Given the description of an element on the screen output the (x, y) to click on. 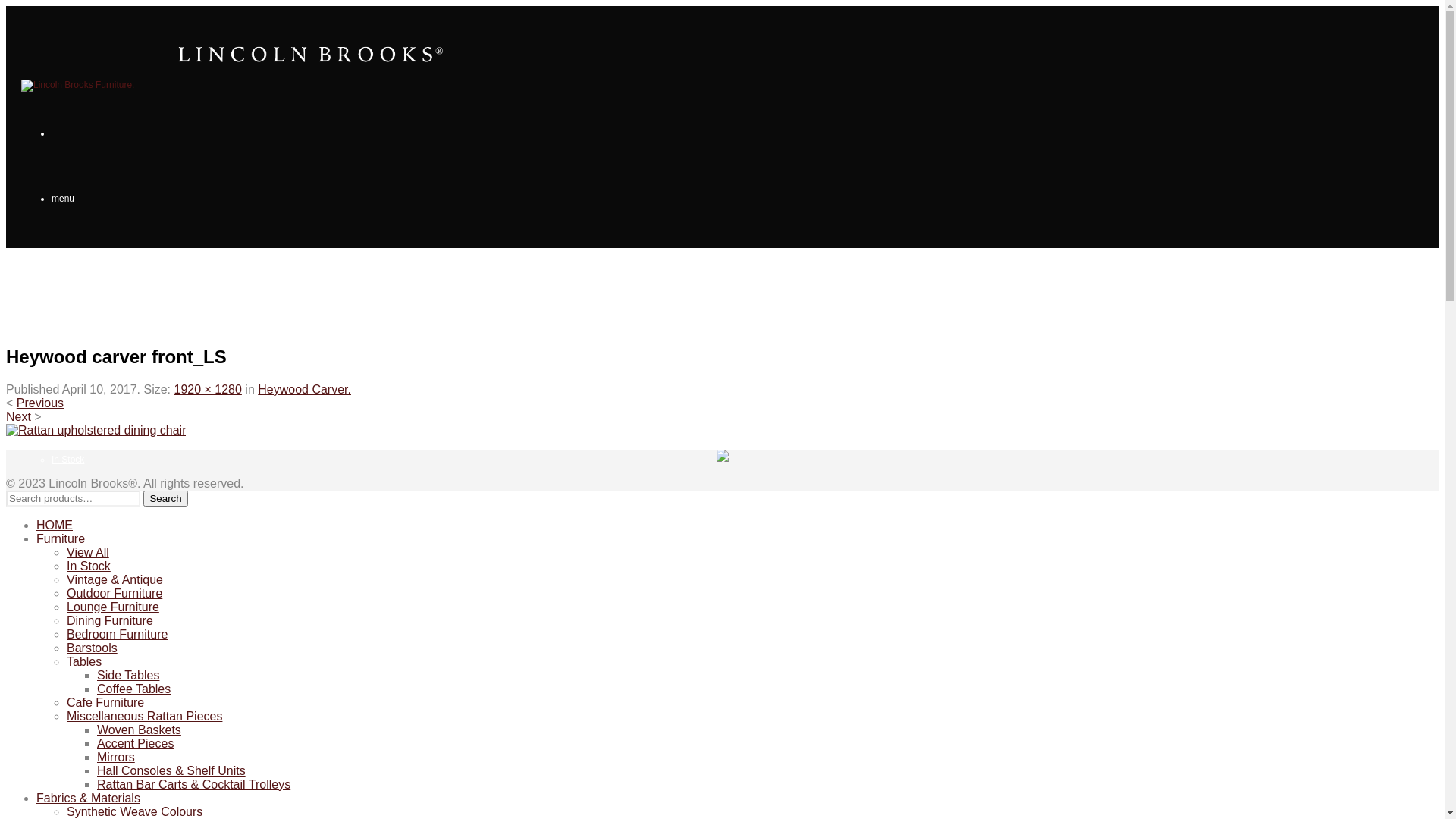
Bedroom Furniture Element type: text (116, 633)
menu Element type: text (62, 198)
Rattan Bar Carts & Cocktail Trolleys Element type: text (193, 784)
Barstools Element type: text (91, 647)
View All Element type: text (67, 394)
Bedroom Furniture Element type: text (89, 785)
Furniture Element type: text (39, 328)
Outdoor Furniture Element type: text (114, 592)
Previous Element type: text (39, 402)
Miscellaneous Rattan Pieces Element type: text (144, 715)
Hall Consoles & Shelf Units Element type: text (171, 770)
Mirrors Element type: text (115, 756)
Synthetic Weave Colours Element type: text (134, 811)
Lounge Furniture Element type: text (112, 606)
Furniture Element type: text (60, 538)
Search Element type: text (165, 498)
Woven Baskets Element type: text (139, 729)
Vintage & Antique Element type: text (87, 524)
Coffee Tables Element type: text (133, 688)
Fabrics & Materials Element type: text (88, 797)
HOME Element type: text (34, 263)
Side Tables Element type: text (128, 674)
Cafe Furniture Element type: text (105, 702)
Heywood carver front_LS Element type: hover (95, 429)
In Stock Element type: text (67, 459)
Next Element type: text (18, 416)
Accent Pieces Element type: text (135, 743)
View All Element type: text (87, 552)
Outdoor Furniture Element type: text (87, 589)
Lounge Furniture Element type: text (85, 654)
HOME Element type: text (54, 524)
Instagram Element type: hover (721, 457)
Heywood Carver. Element type: text (304, 388)
In Stock Element type: text (88, 565)
Dining Furniture Element type: text (83, 720)
Tables Element type: text (83, 661)
Vintage & Antique Element type: text (114, 579)
Dining Furniture Element type: text (109, 620)
